Given the description of an element on the screen output the (x, y) to click on. 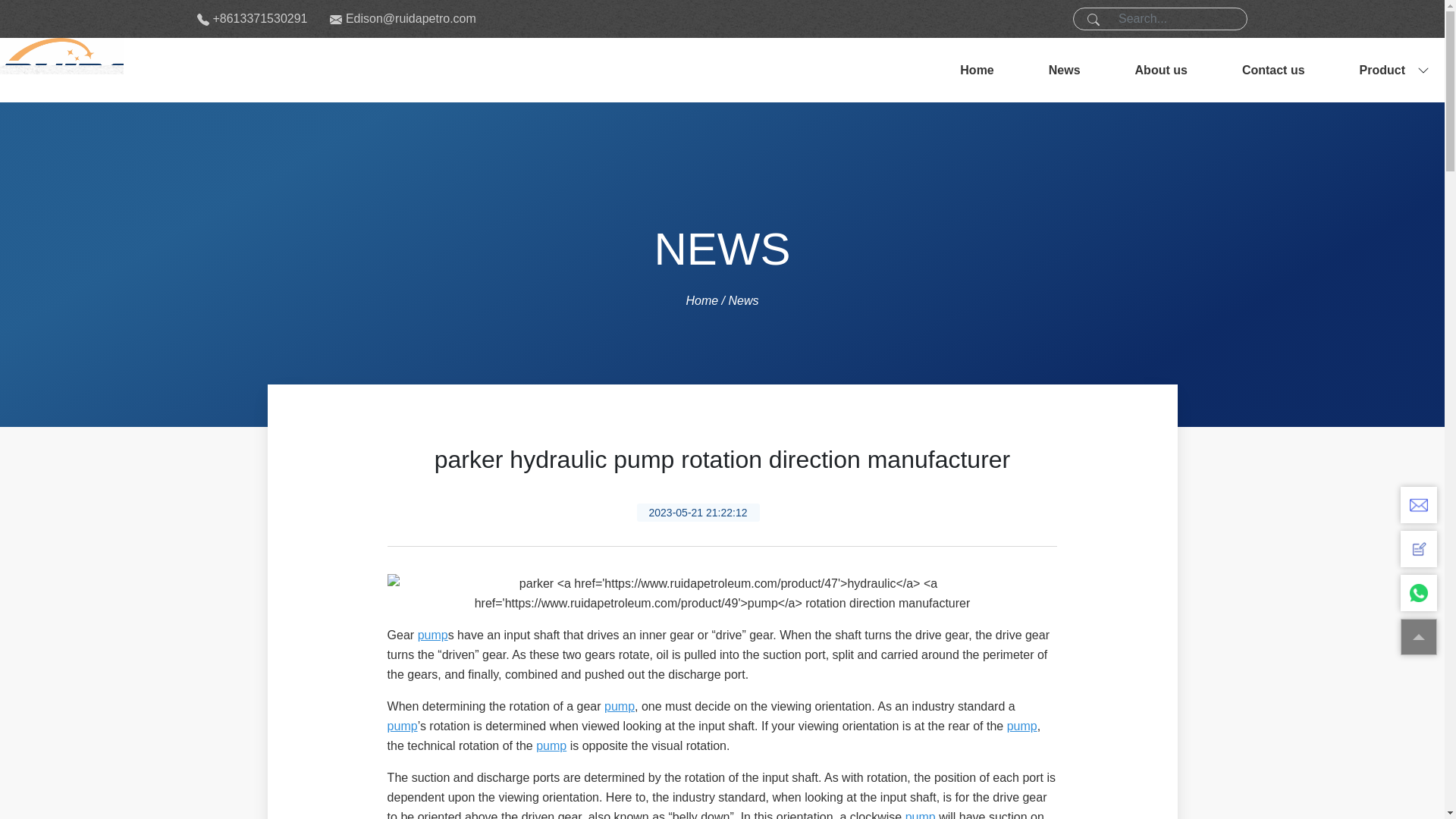
Contact us (1273, 69)
About us (1160, 69)
Product (1382, 69)
News (1064, 69)
Home (976, 69)
